Given the description of an element on the screen output the (x, y) to click on. 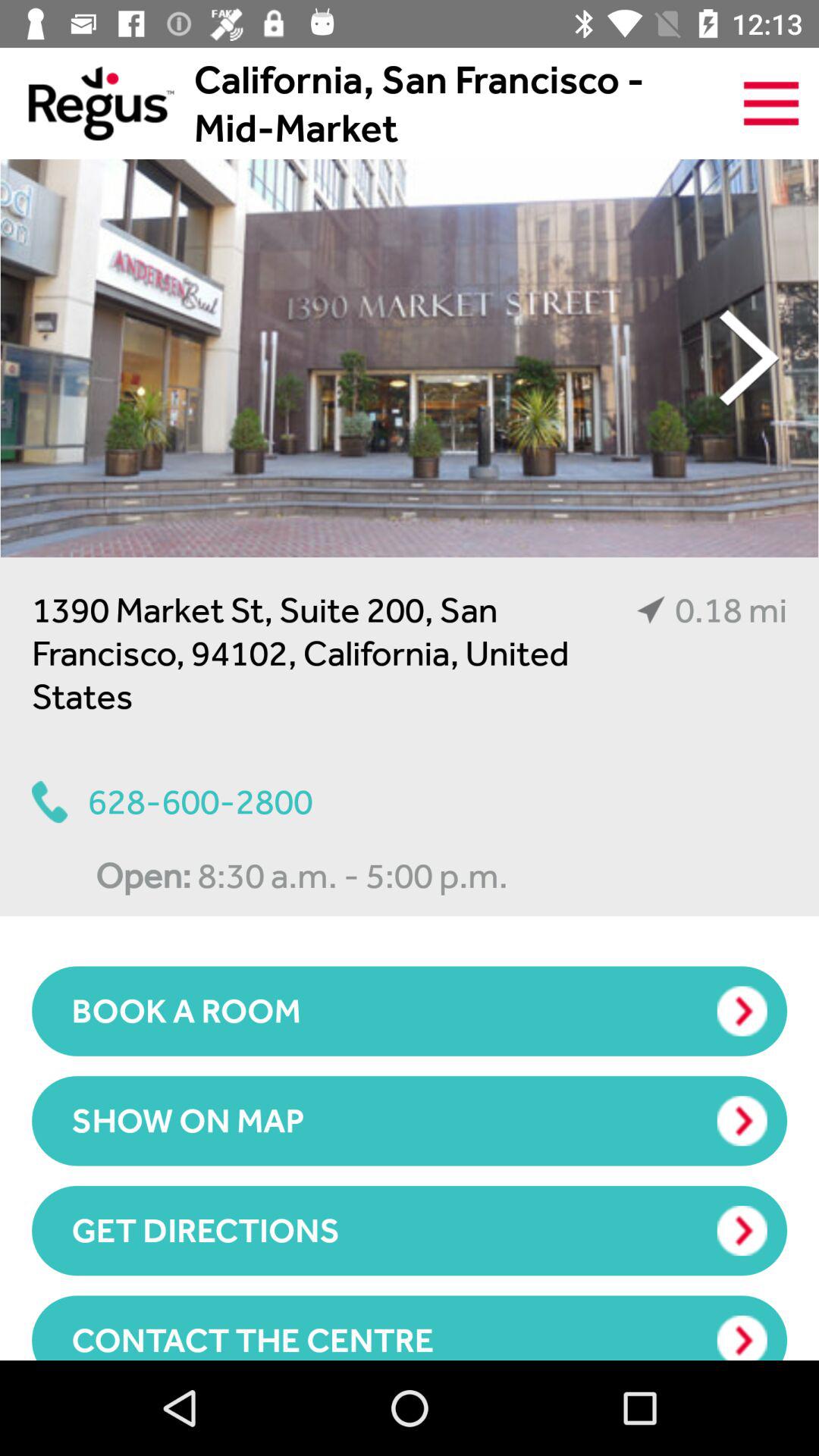
go to main site (87, 103)
